Given the description of an element on the screen output the (x, y) to click on. 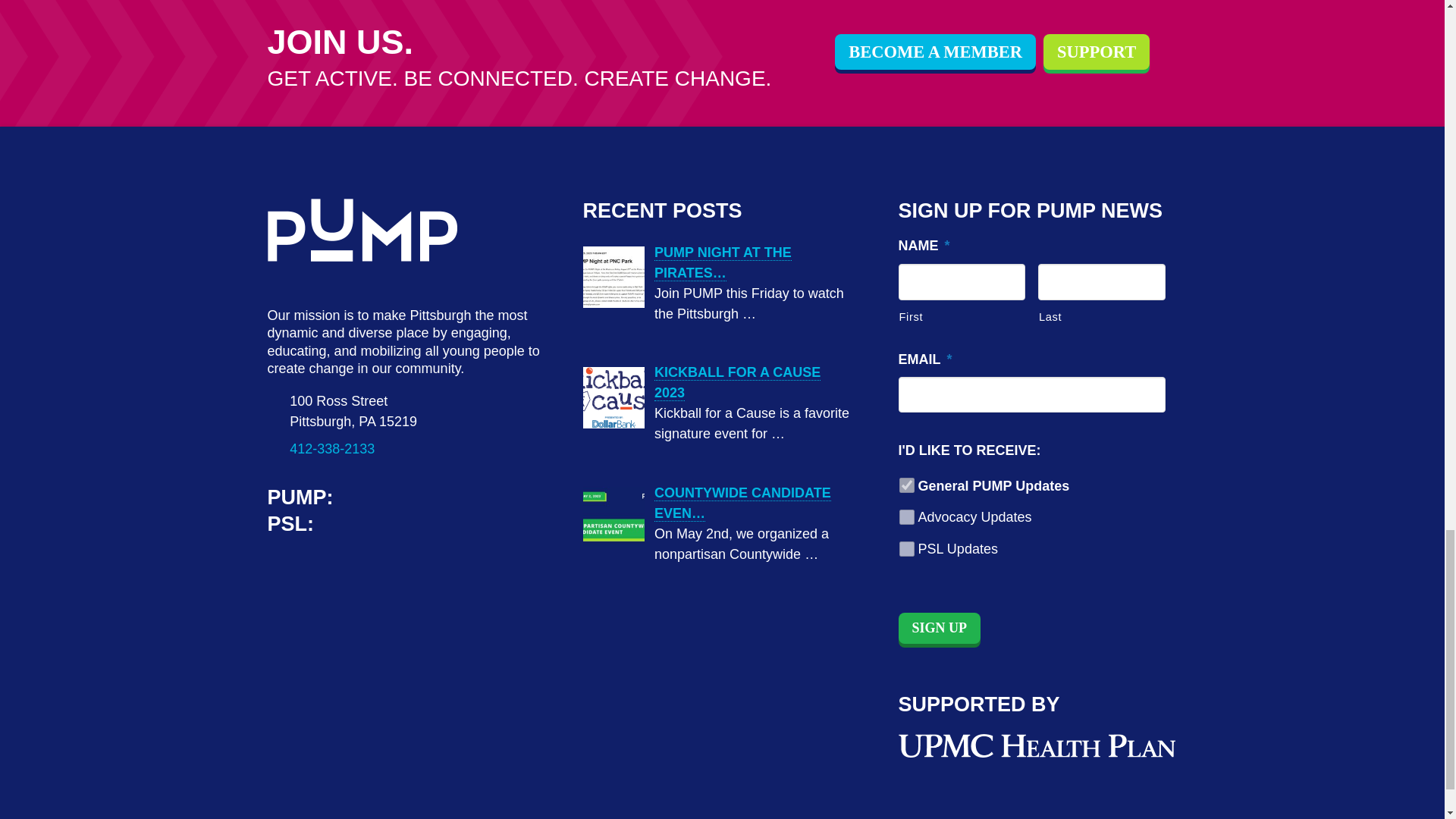
Advocacy Updates (906, 516)
Sign Up (938, 627)
PSL Updates (906, 548)
General PUMP Updates (906, 485)
